Given the description of an element on the screen output the (x, y) to click on. 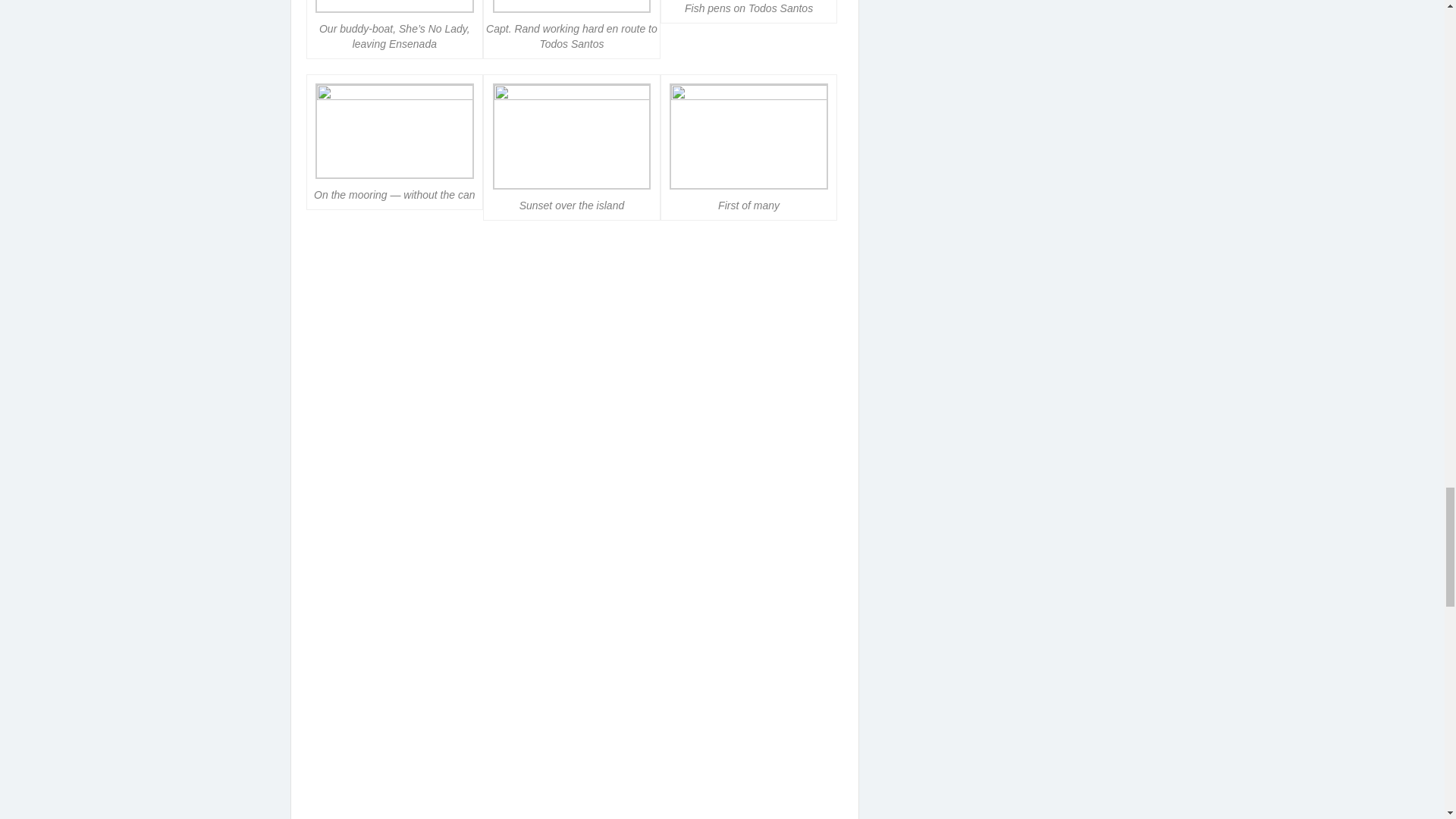
20161023 LeavingEnsenada (574, 721)
